Given the description of an element on the screen output the (x, y) to click on. 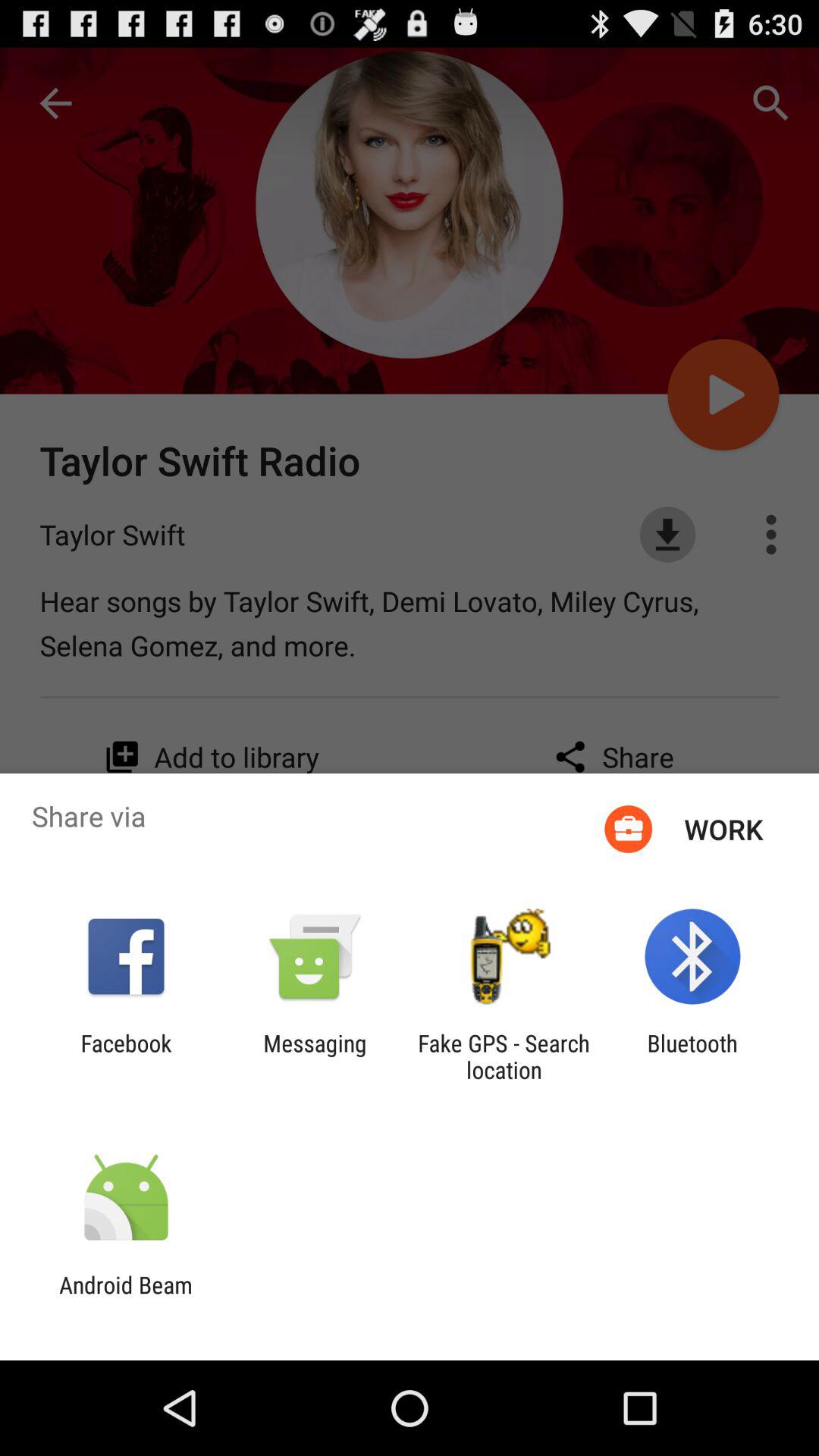
select icon next to fake gps search app (692, 1056)
